Given the description of an element on the screen output the (x, y) to click on. 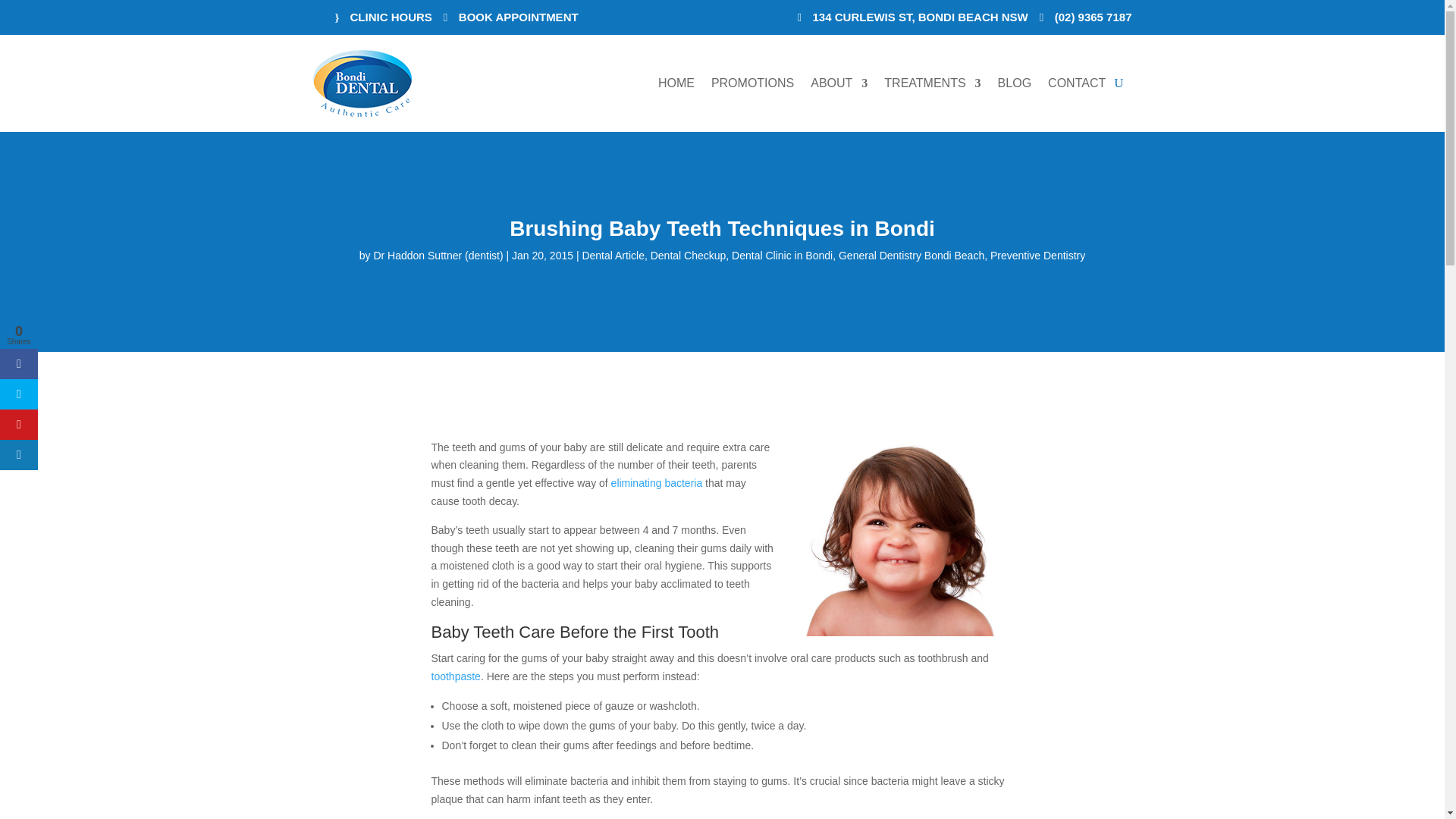
PROMOTIONS (752, 83)
TREATMENTS (931, 83)
Protecting Your Mouth From Bacteria Build-Up (657, 482)
BOOK APPOINTMENT (511, 16)
Buying The Right Toothpaste (455, 676)
134 CURLEWIS ST, BONDI BEACH NSW (912, 16)
CLINIC HOURS (383, 16)
